Given the description of an element on the screen output the (x, y) to click on. 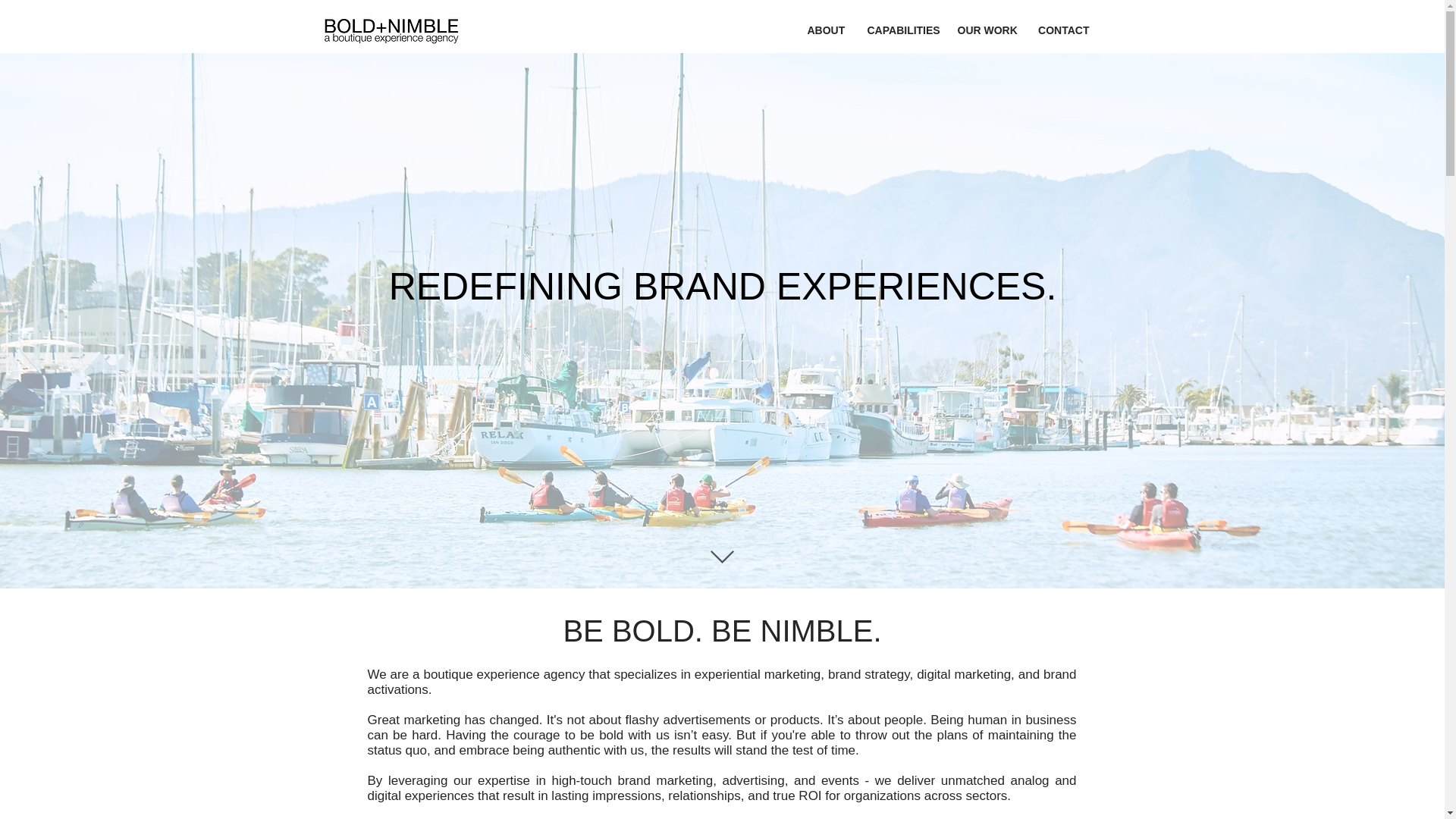
ABOUT (826, 30)
OUR WORK (986, 30)
CAPABILITIES (900, 30)
CONTACT (1063, 30)
